Given the description of an element on the screen output the (x, y) to click on. 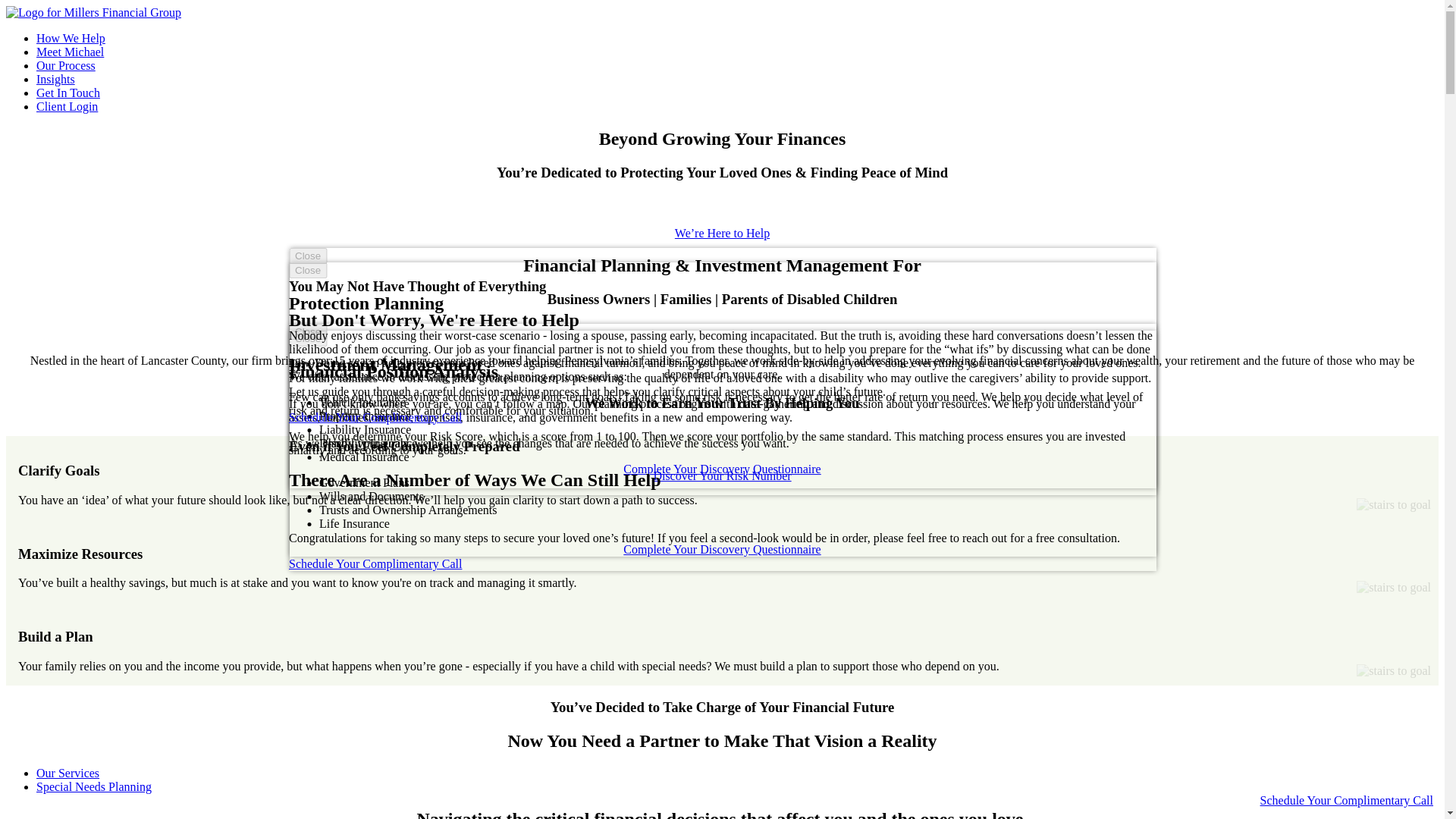
Complete Your Discovery Questionnaire (722, 468)
Schedule Your Complimentary Call (374, 563)
Our Process (66, 65)
Close (307, 331)
Close (307, 270)
How We Help (70, 38)
Our Services (67, 772)
Discover Your Risk Number (721, 475)
Close (307, 255)
Special Needs Planning (93, 786)
